Given the description of an element on the screen output the (x, y) to click on. 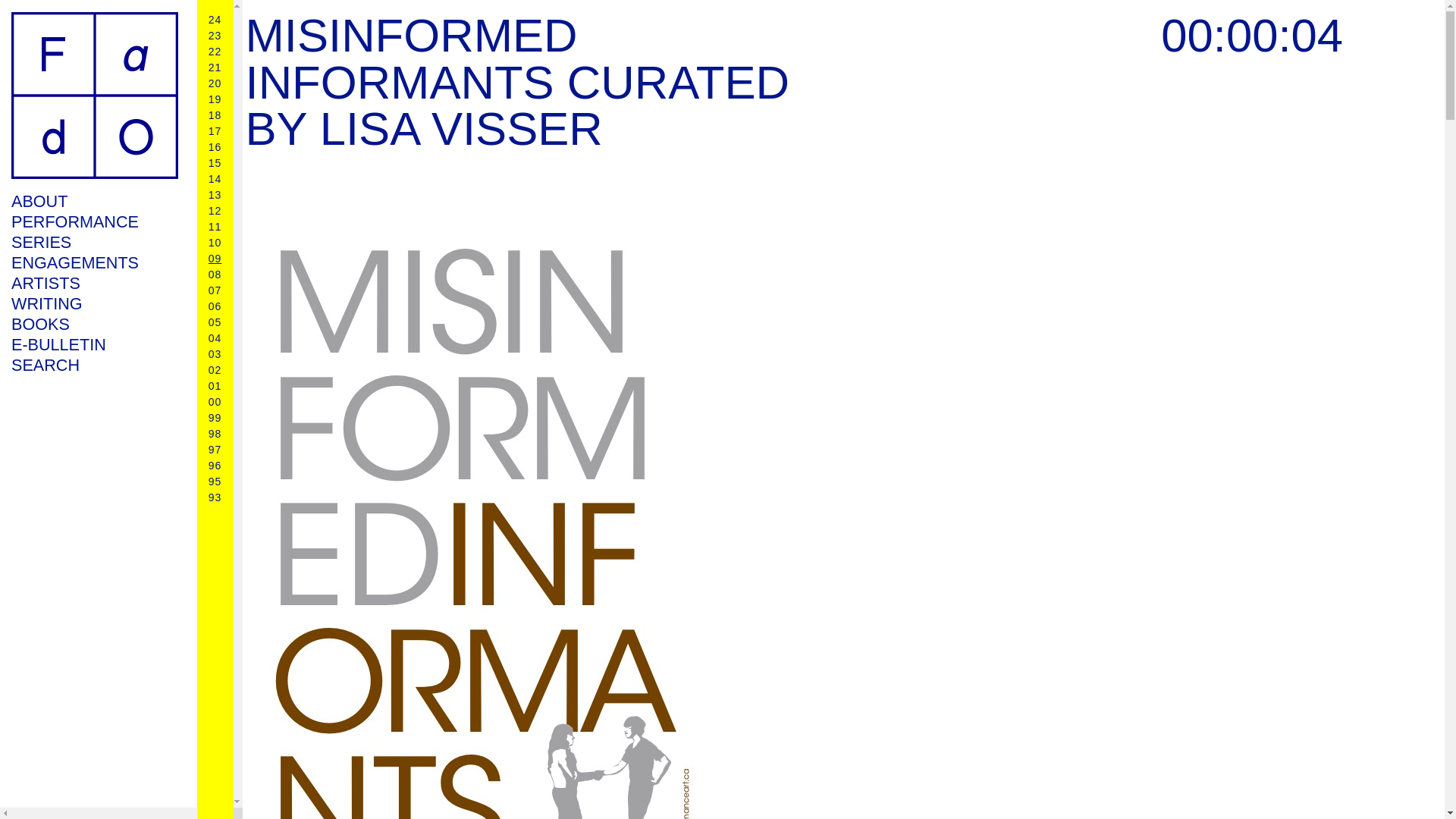
BOOKS (94, 323)
14 (215, 178)
SERIES (94, 241)
WRITING (94, 303)
SEARCH (94, 364)
20 (215, 82)
09 (215, 258)
12 (215, 210)
ENGAGEMENTS (94, 262)
21 (215, 67)
